Given the description of an element on the screen output the (x, y) to click on. 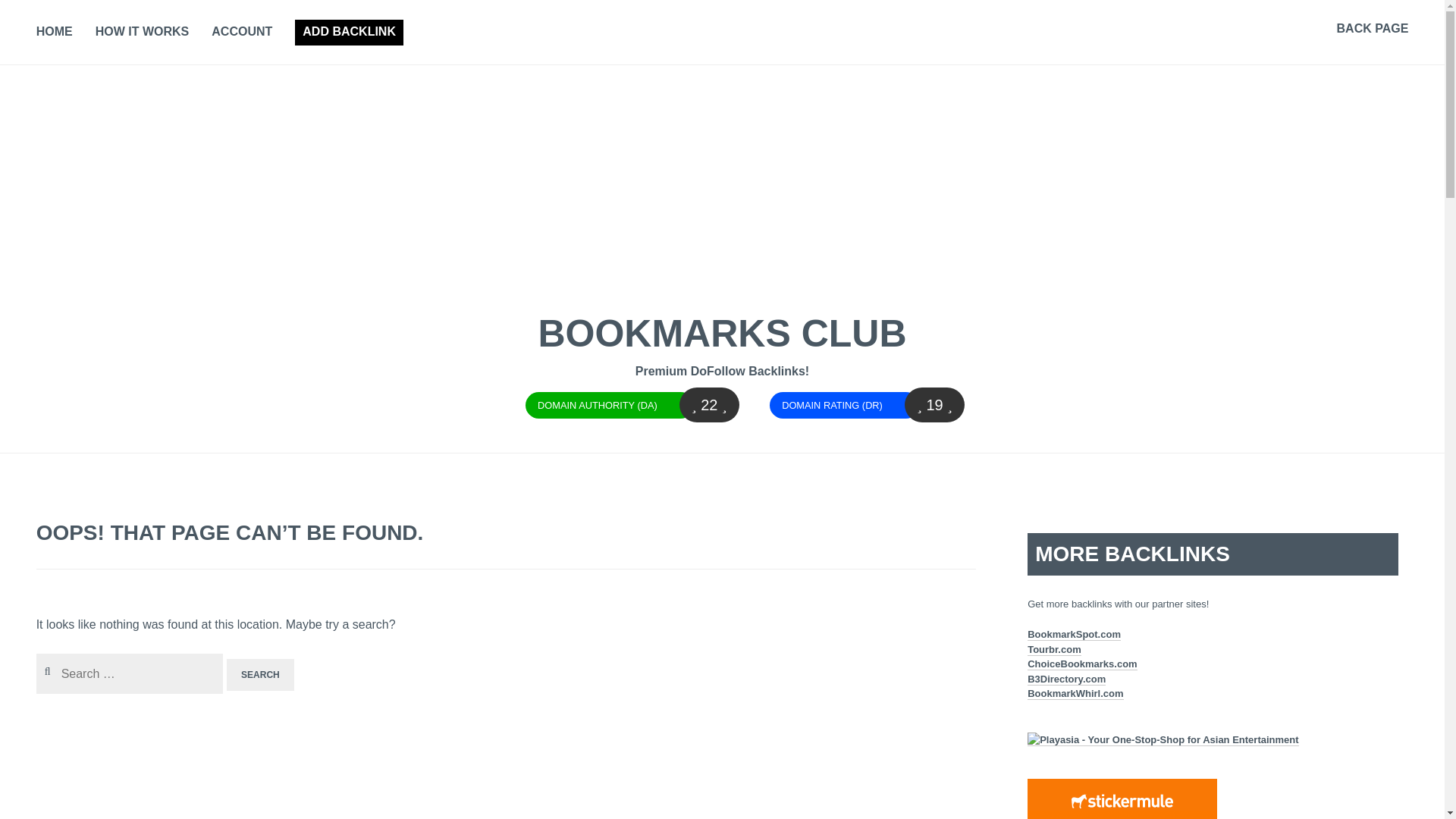
BookmarkWhirl.com (1074, 693)
Search (33, 15)
ACCOUNT (241, 32)
BookmarkSpot.com (1074, 634)
BOOKMARKS CLUB (721, 333)
B3Directory.com (1066, 679)
Search (260, 675)
Tourbr.com (1054, 649)
ADD BACKLINK (349, 32)
